Given the description of an element on the screen output the (x, y) to click on. 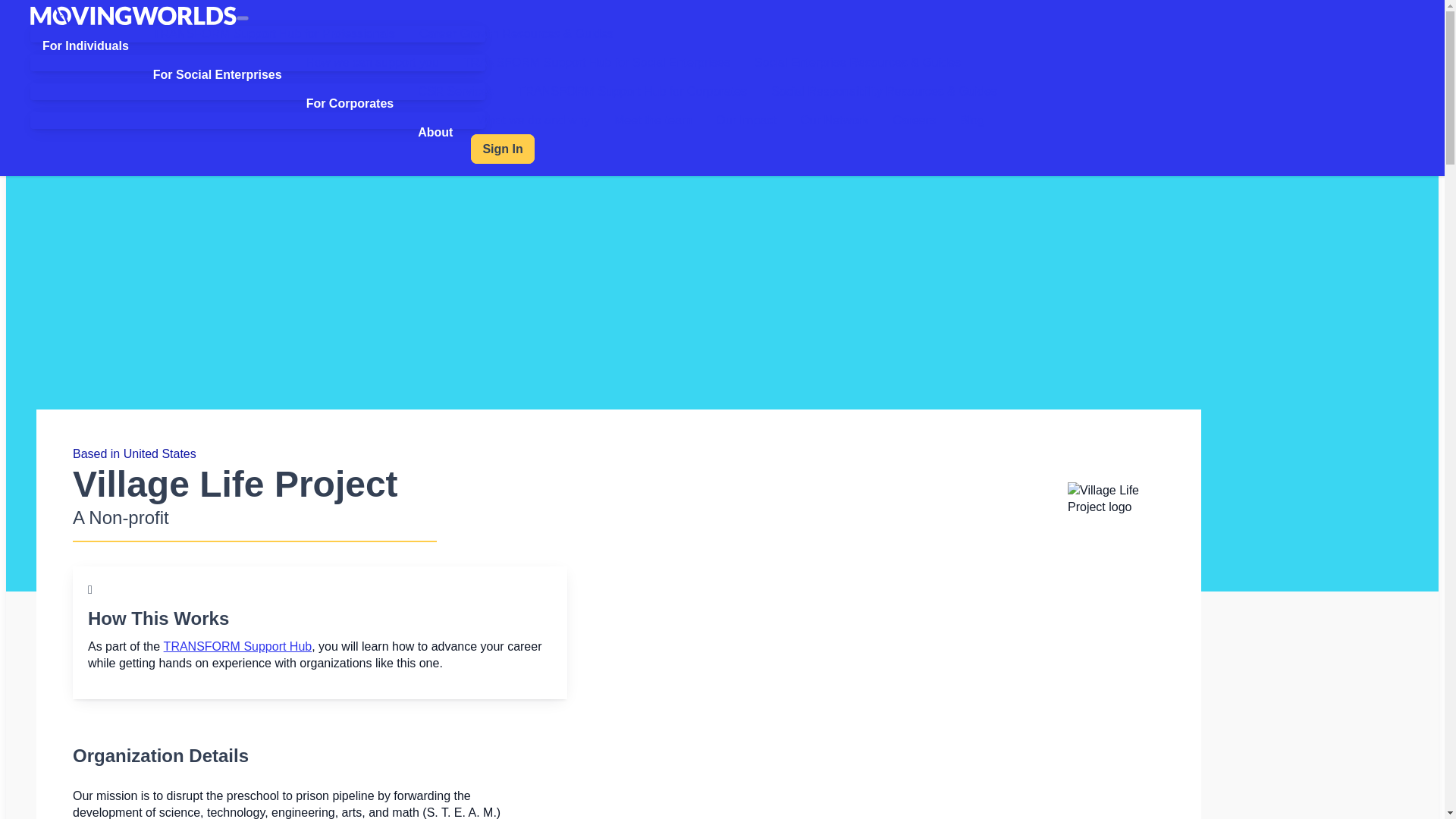
Meet the team (652, 119)
What we do and why (533, 119)
About (435, 132)
For Social Enterprises (217, 74)
TRANSFORM Support Hub for Professionals (274, 33)
Blog (971, 119)
Sign In (502, 148)
For Individuals (85, 45)
How we can support you (372, 62)
CSR Services (455, 91)
MovingWorlds Logo (132, 15)
Careers (913, 119)
TRANSFORM Support Hub for Corporates (631, 91)
Our Network (833, 119)
Our Impact (745, 119)
